Given the description of an element on the screen output the (x, y) to click on. 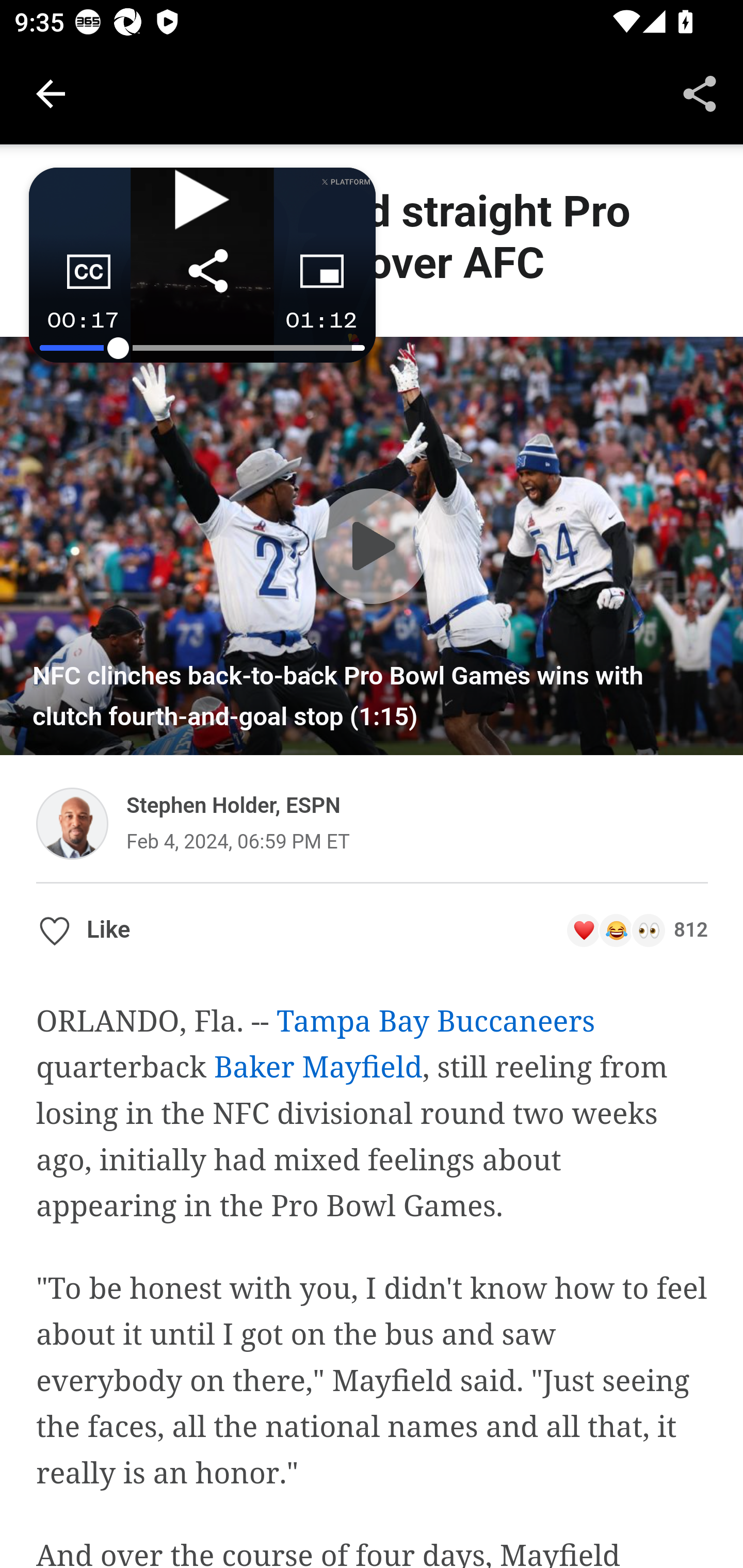
Navigate up (50, 93)
Share (699, 93)
